Given the description of an element on the screen output the (x, y) to click on. 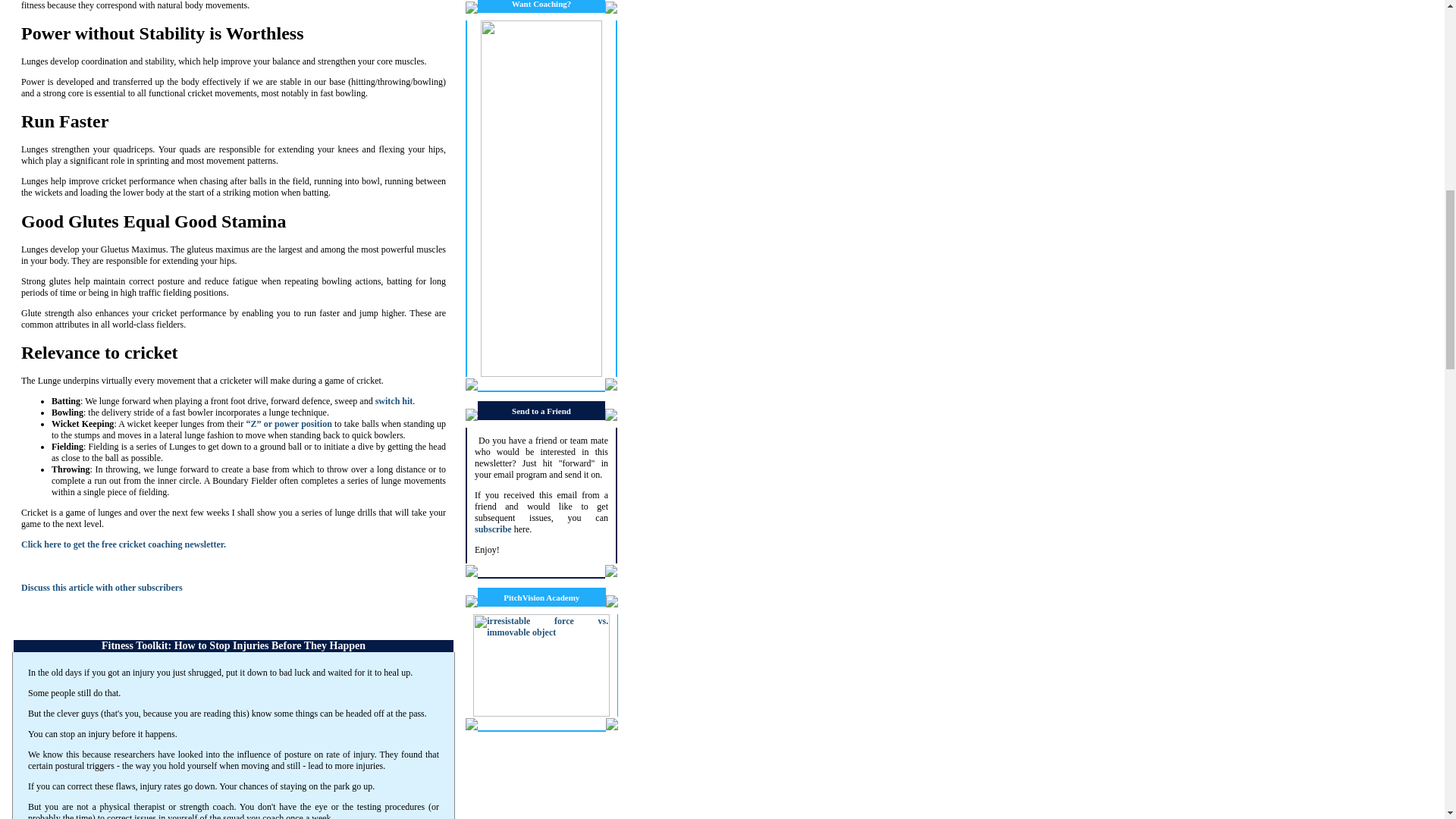
subscribe (493, 529)
Click here to get the free cricket coaching newsletter. (123, 543)
Discuss this article with other subscribers (102, 587)
switch hit (394, 400)
